Given the description of an element on the screen output the (x, y) to click on. 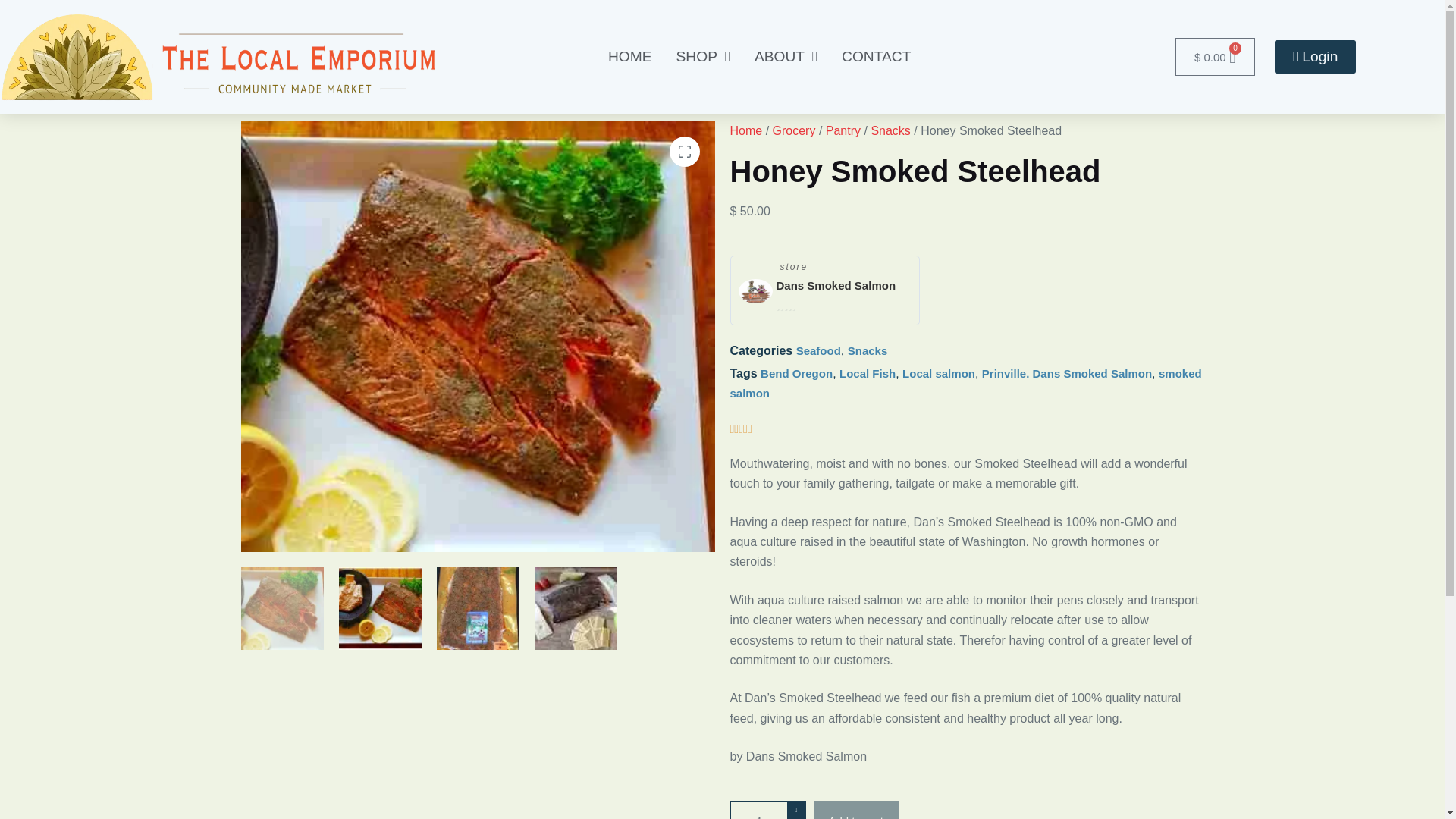
SHOP (703, 56)
HOME (629, 56)
ABOUT (786, 56)
1 (767, 809)
No reviews yet! (812, 304)
Skip to content (15, 7)
